Given the description of an element on the screen output the (x, y) to click on. 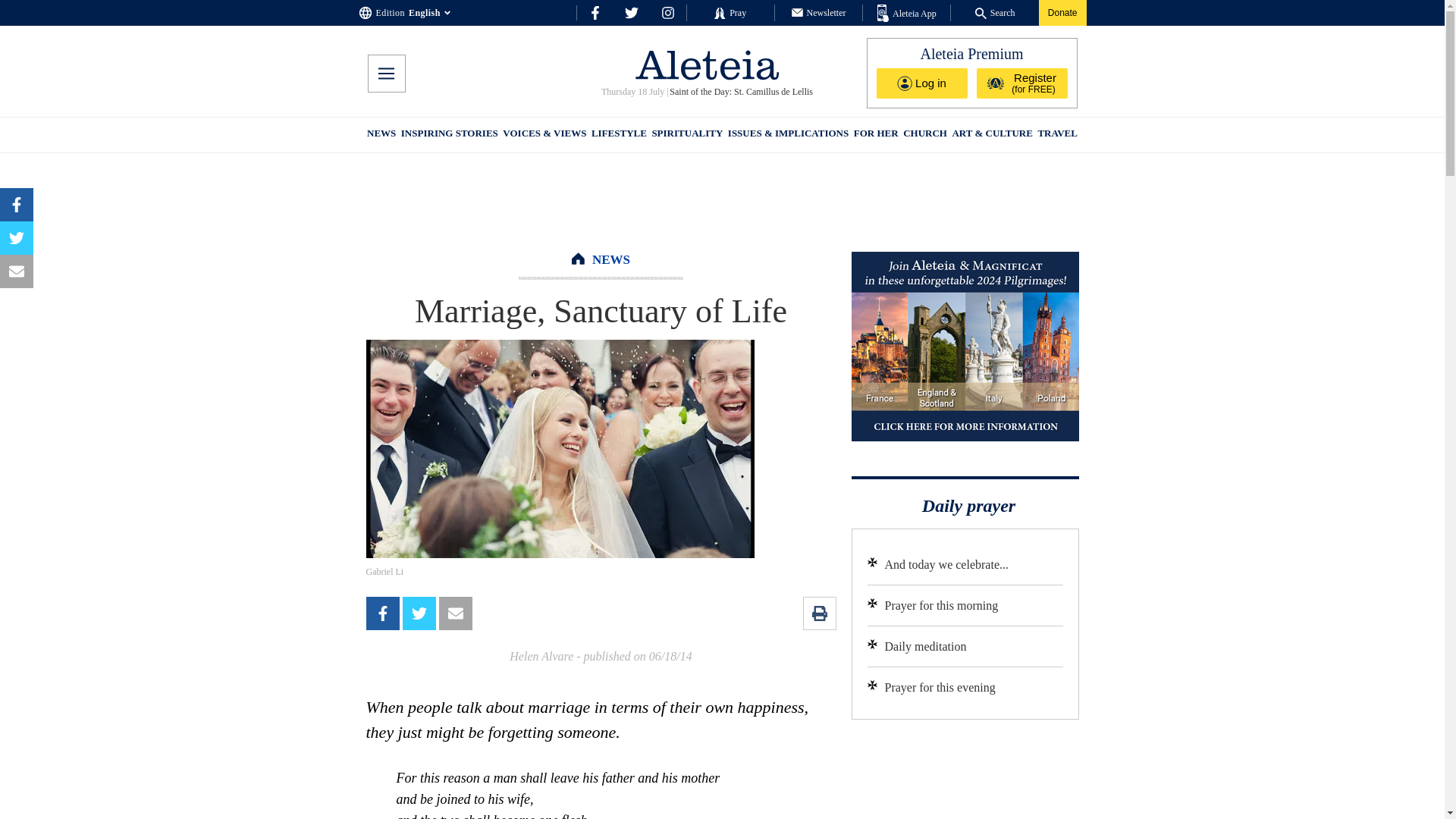
Newsletter (818, 12)
Search (994, 12)
Donate (1062, 12)
Pray (729, 12)
FOR HER (875, 134)
Saint of the Day: St. Camillus de Lellis (740, 91)
LIFESTYLE (618, 134)
Aleteia App (906, 13)
logo-header (706, 64)
NEWS (611, 259)
mobile-menu-btn (385, 73)
INSPIRING STORIES (449, 134)
TRAVEL (1056, 134)
Log in (922, 82)
social-tw-top-row (631, 12)
